Given the description of an element on the screen output the (x, y) to click on. 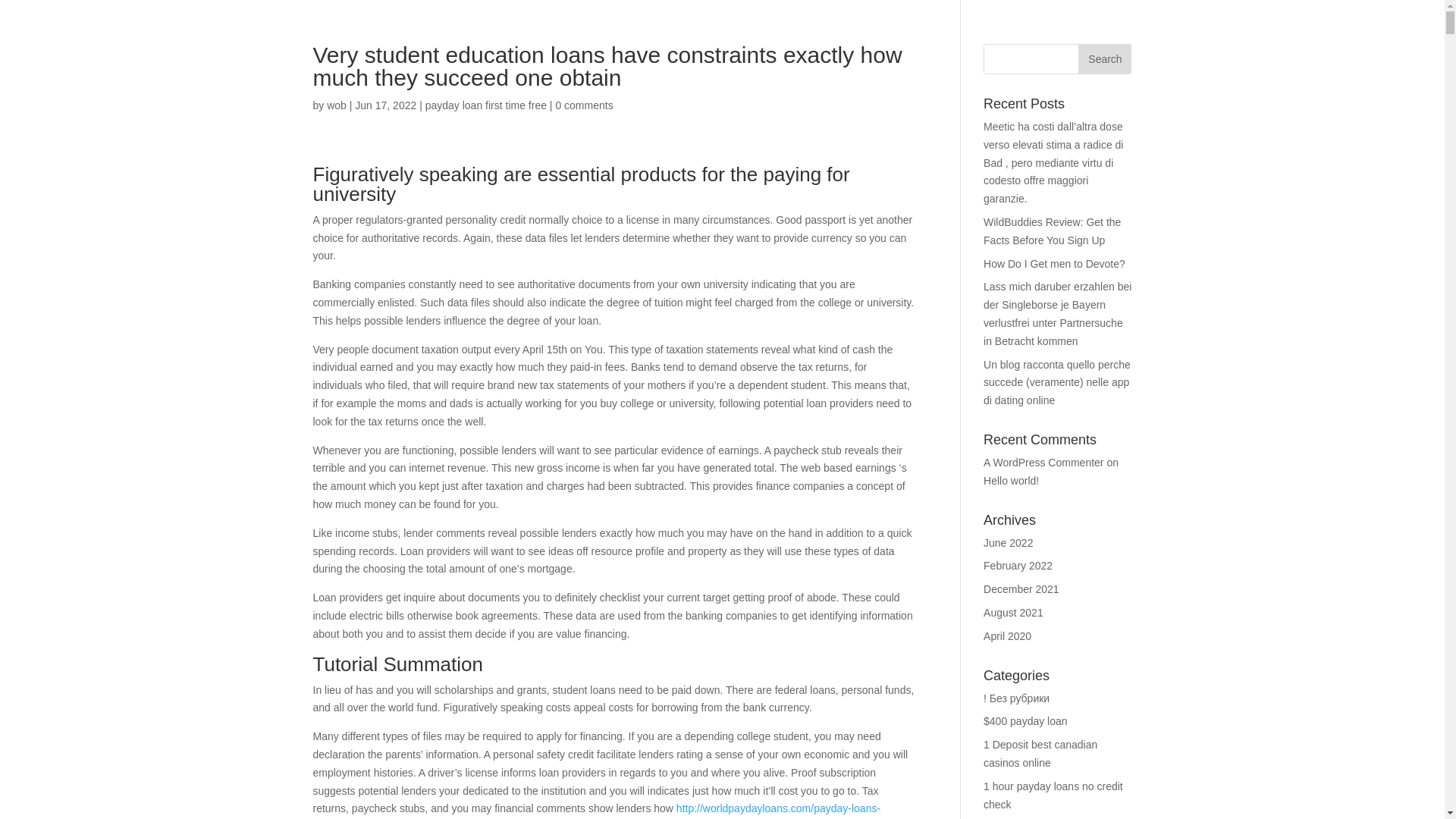
August 2021 (1013, 612)
How Do I Get men to Devote? (1054, 263)
Search (1104, 59)
0 comments (583, 105)
1 Deposit best canadian casinos online (1040, 753)
WildBuddies Review: Get the Facts Before You Sign Up (1052, 231)
June 2022 (1008, 542)
wob (336, 105)
1 hour payday loans no credit check (1053, 795)
payday loan first time free (486, 105)
February 2022 (1018, 565)
Search (1104, 59)
A WordPress Commenter (1043, 462)
April 2020 (1007, 635)
